Given the description of an element on the screen output the (x, y) to click on. 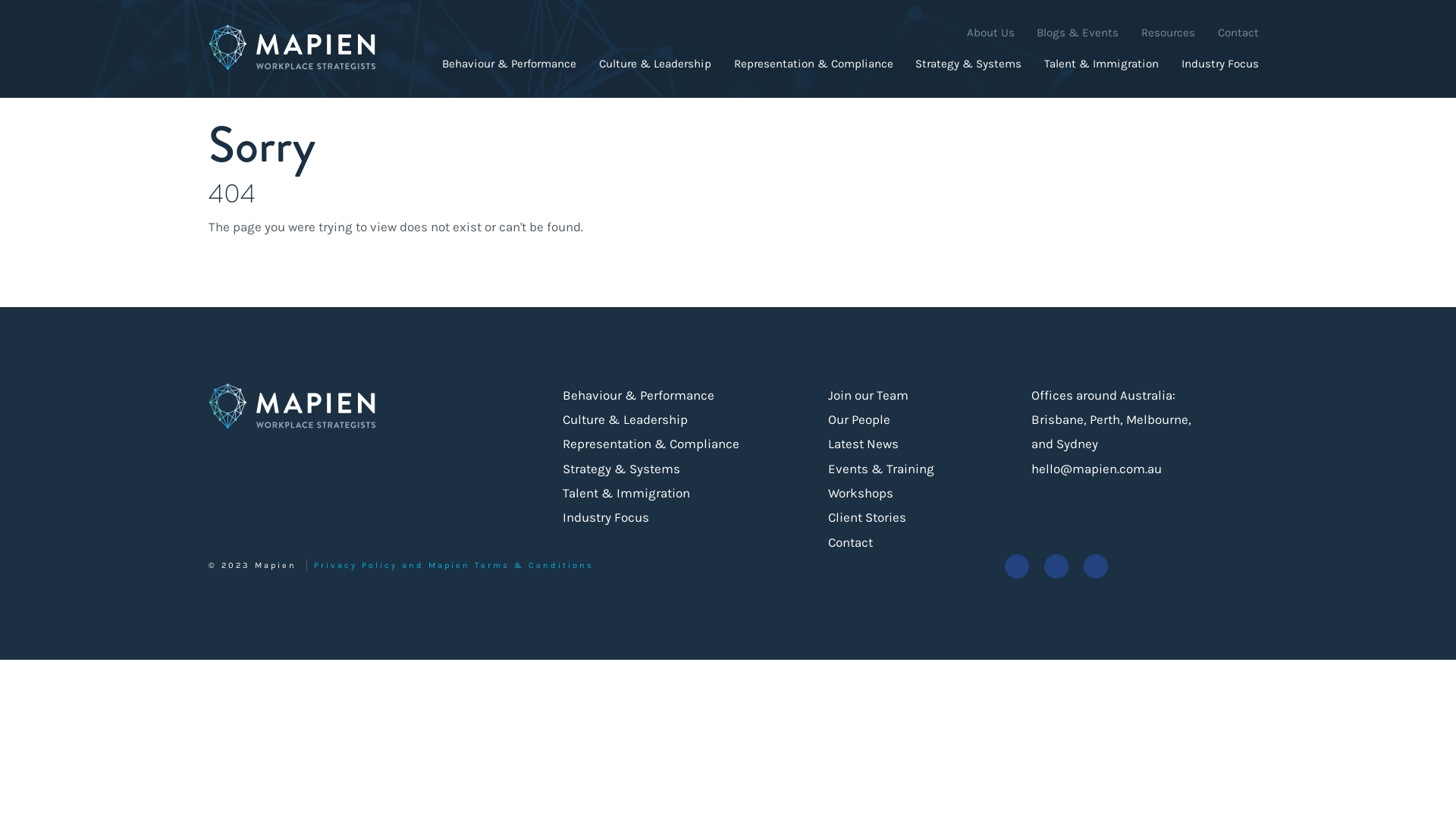
Culture & Leadership Element type: text (624, 419)
Industry Focus Element type: text (1219, 62)
Resources Element type: text (1168, 32)
Behaviour & Performance Element type: text (638, 394)
hello@mapien.com.au Element type: text (1096, 468)
Talent & Immigration Element type: text (626, 492)
Strategy & Systems Element type: text (968, 62)
Join our Team Element type: text (868, 394)
Blogs & Events Element type: text (1077, 32)
Privacy Policy and Mapien Terms & Conditions Element type: text (453, 565)
Strategy & Systems Element type: text (621, 468)
Behaviour & Performance Element type: text (509, 62)
Latest News Element type: text (863, 443)
Representation & Compliance Element type: text (813, 62)
About Us Element type: text (989, 32)
Events & Training Workshops Element type: text (905, 480)
Representation & Compliance Element type: text (650, 443)
Client Stories Element type: text (867, 517)
Contact Element type: text (850, 542)
Industry Focus Element type: text (605, 517)
Our People Element type: text (859, 419)
Talent & Immigration Element type: text (1101, 62)
Contact Element type: text (1237, 32)
Culture & Leadership Element type: text (655, 62)
